Given the description of an element on the screen output the (x, y) to click on. 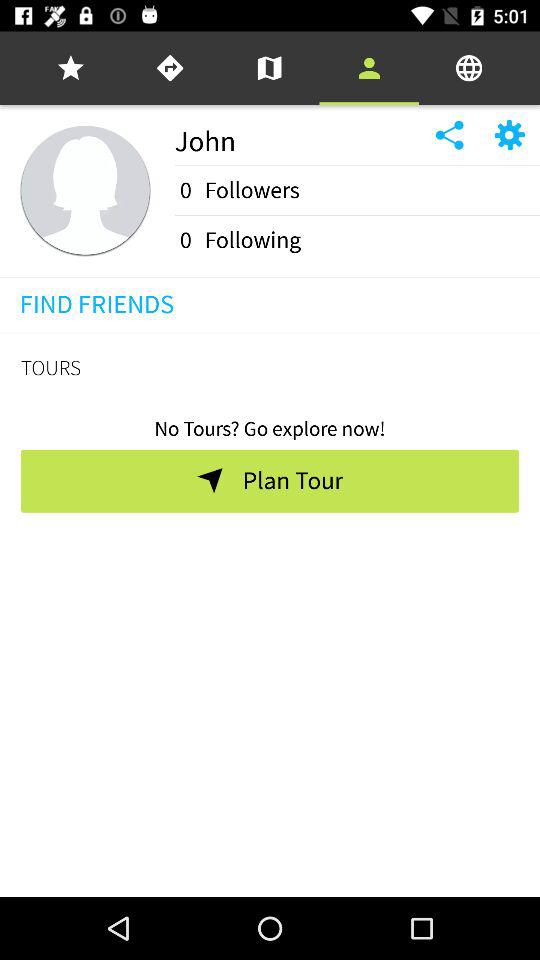
turn on the icon above the john item (269, 68)
